Given the description of an element on the screen output the (x, y) to click on. 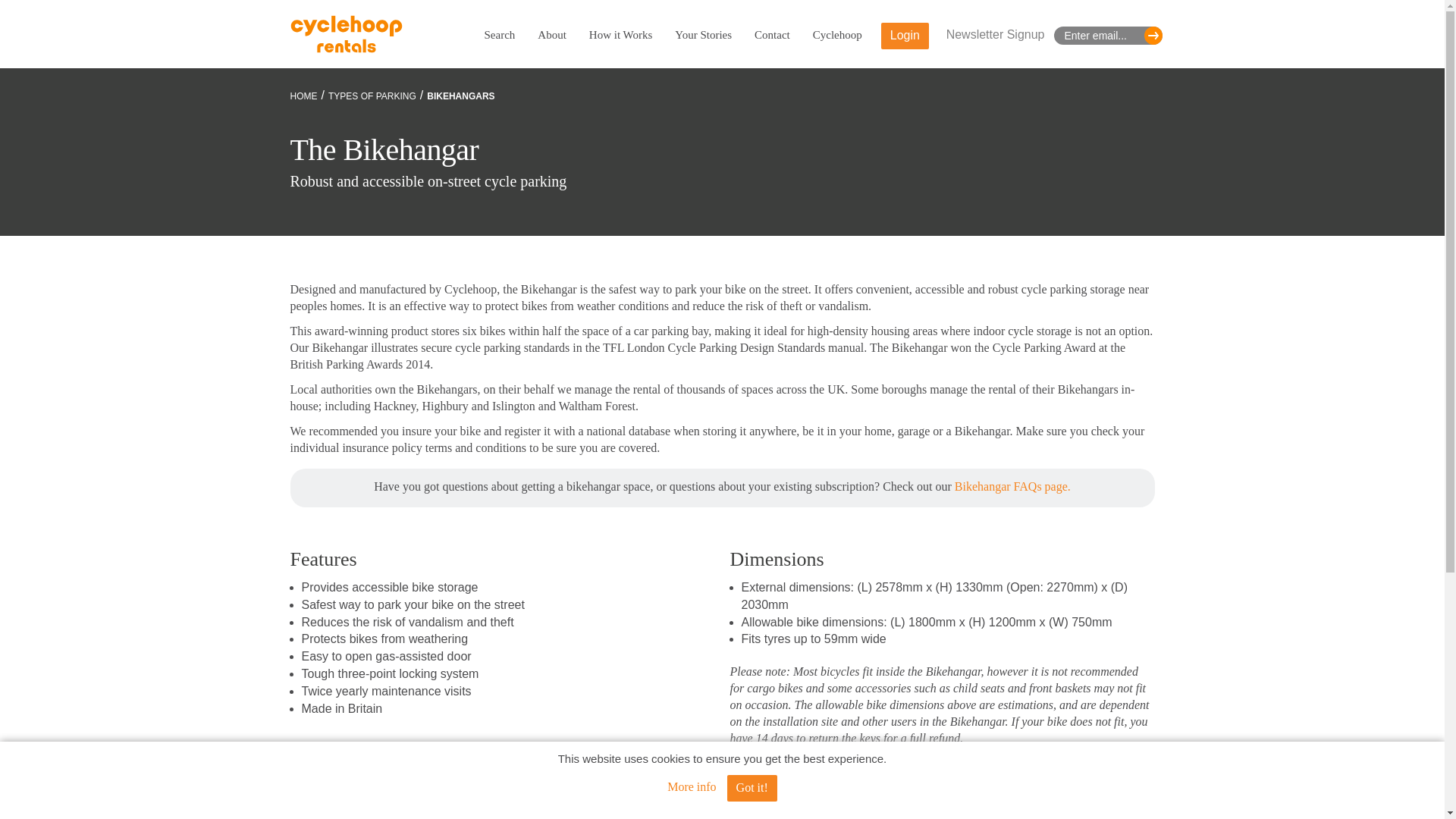
About (551, 34)
Search (499, 34)
Login (904, 35)
How it Works (620, 34)
Bikehangar FAQs page. (1012, 486)
Got it! (751, 787)
TYPES OF PARKING (372, 95)
HOME (303, 95)
Your Stories (703, 34)
More info (691, 786)
Cyclehoop (836, 34)
Contact (772, 34)
